Given the description of an element on the screen output the (x, y) to click on. 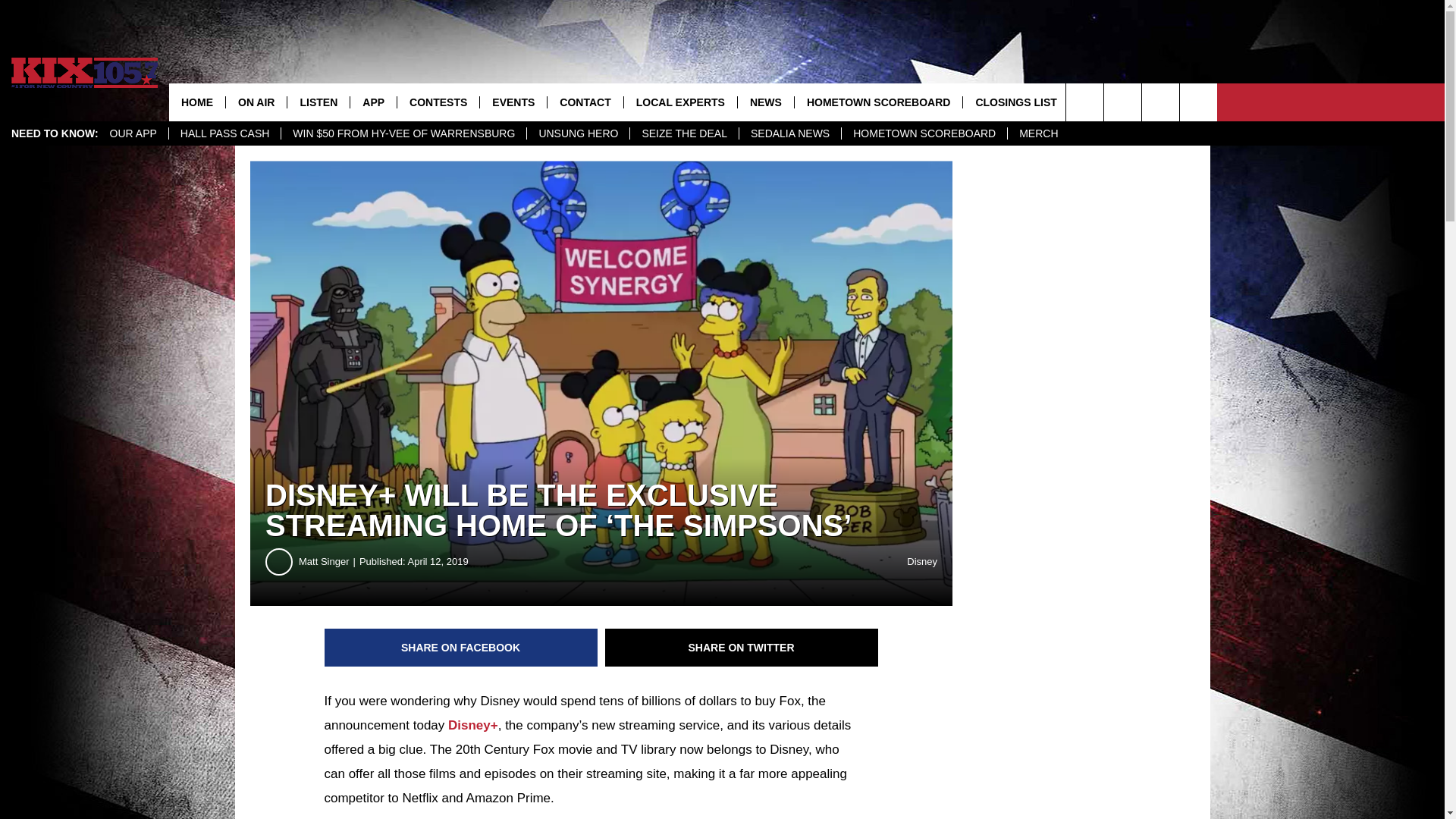
HALL PASS CASH (224, 133)
Share on Facebook (460, 647)
SEDALIA NEWS (789, 133)
ON AIR (255, 102)
OUR APP (133, 133)
MERCH (1037, 133)
CONTESTS (437, 102)
SEIZE THE DEAL (683, 133)
CONTACT (585, 102)
HOME (196, 102)
